Given the description of an element on the screen output the (x, y) to click on. 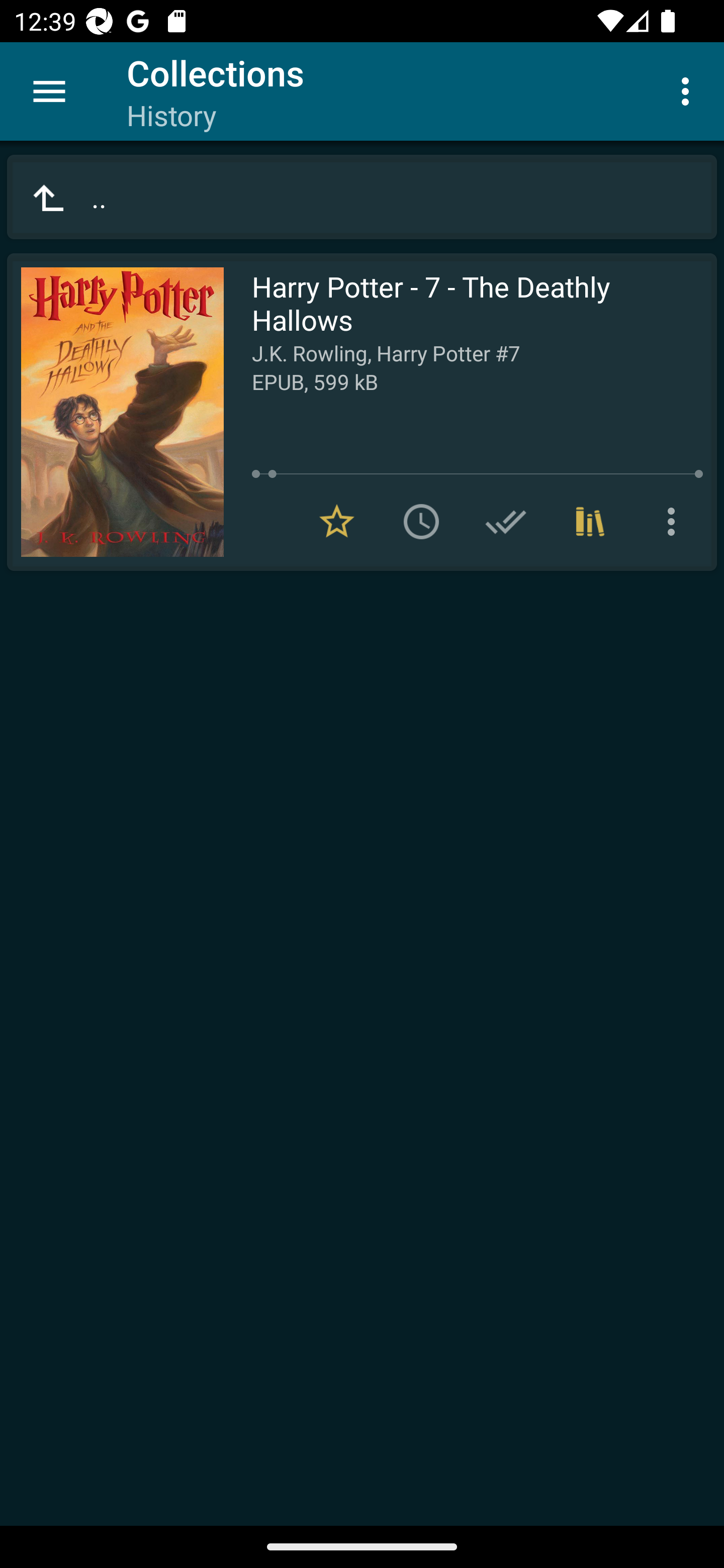
Menu (49, 91)
More options (688, 90)
.. (361, 197)
Read Harry Potter - 7 - The Deathly Hallows (115, 412)
Remove from Favorites (336, 521)
Add to To read (421, 521)
Add to Have read (505, 521)
Collections (3) (590, 521)
More options (674, 521)
